Given the description of an element on the screen output the (x, y) to click on. 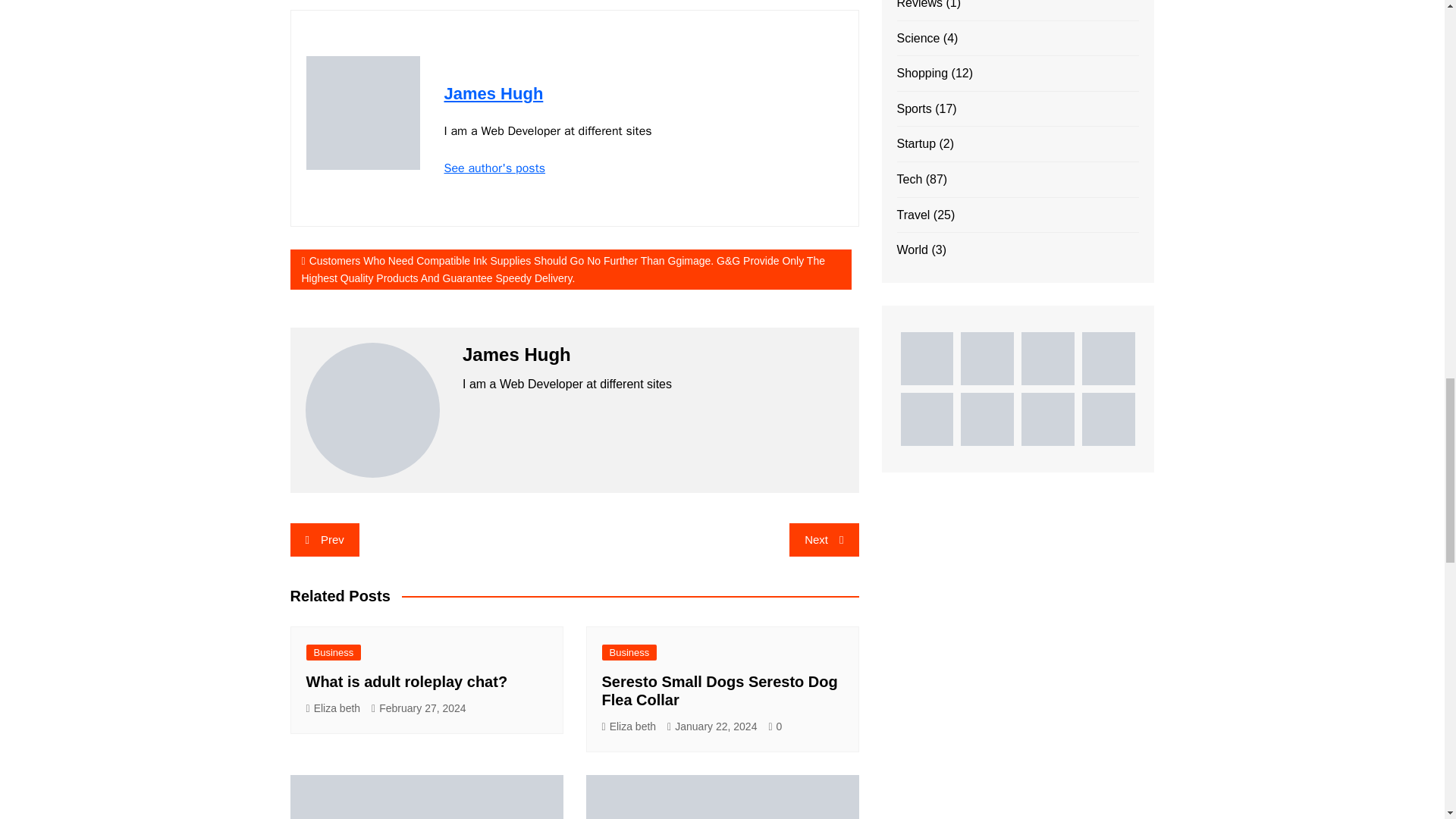
See author's posts (495, 168)
James Hugh (493, 93)
February 27, 2024 (418, 708)
Business (630, 652)
Business (333, 652)
Next (824, 539)
Eliza beth (333, 708)
Prev (323, 539)
What is adult roleplay chat? (406, 681)
